Given the description of an element on the screen output the (x, y) to click on. 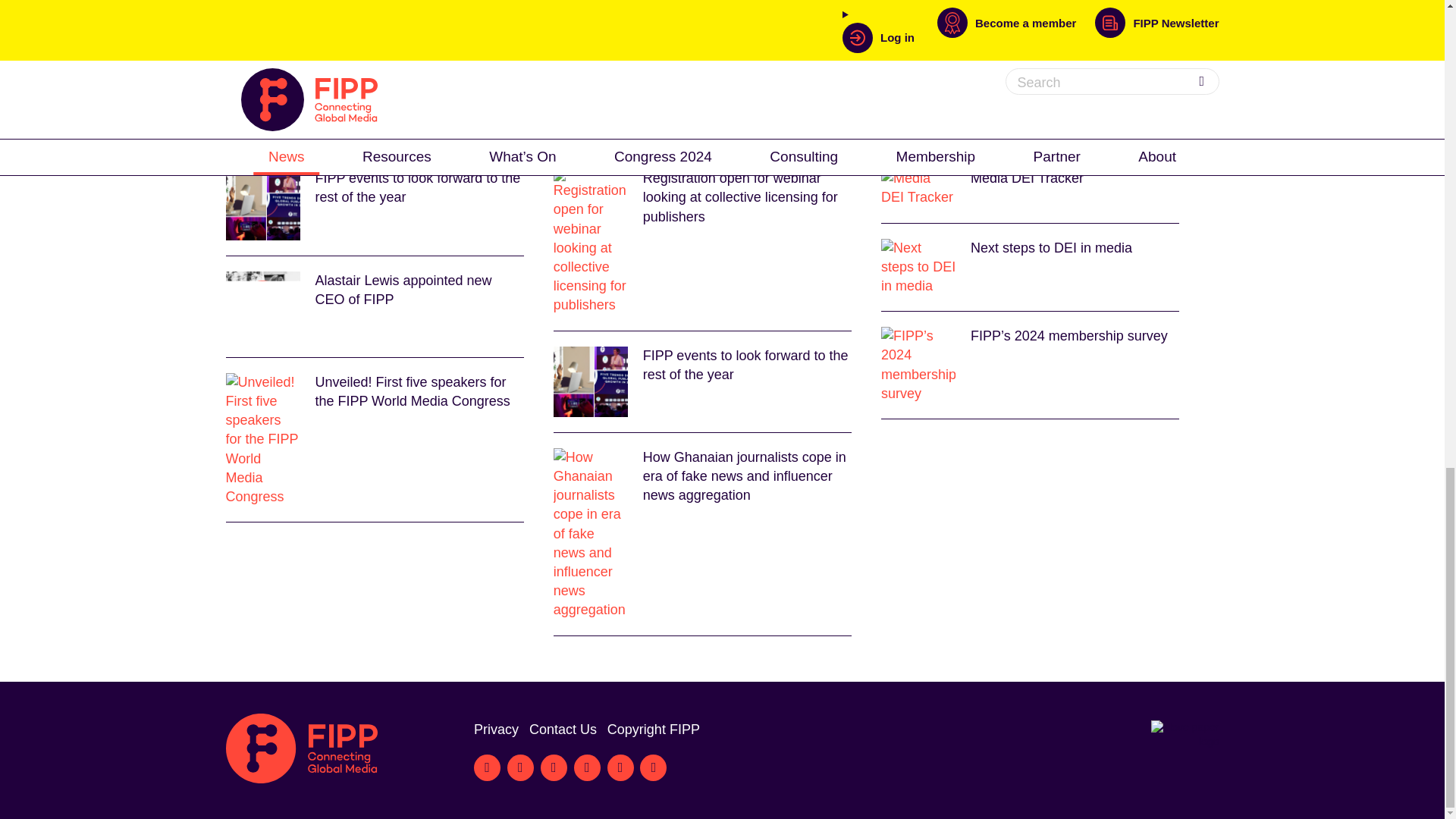
content management (465, 69)
FIPP events to look forward to the rest of the year (702, 381)
FIPP events to look forward to the rest of the year (374, 203)
woodwing (570, 69)
Media DEI Tracker (1029, 187)
Alastair Lewis appointed new CEO of FIPP (374, 306)
